Given the description of an element on the screen output the (x, y) to click on. 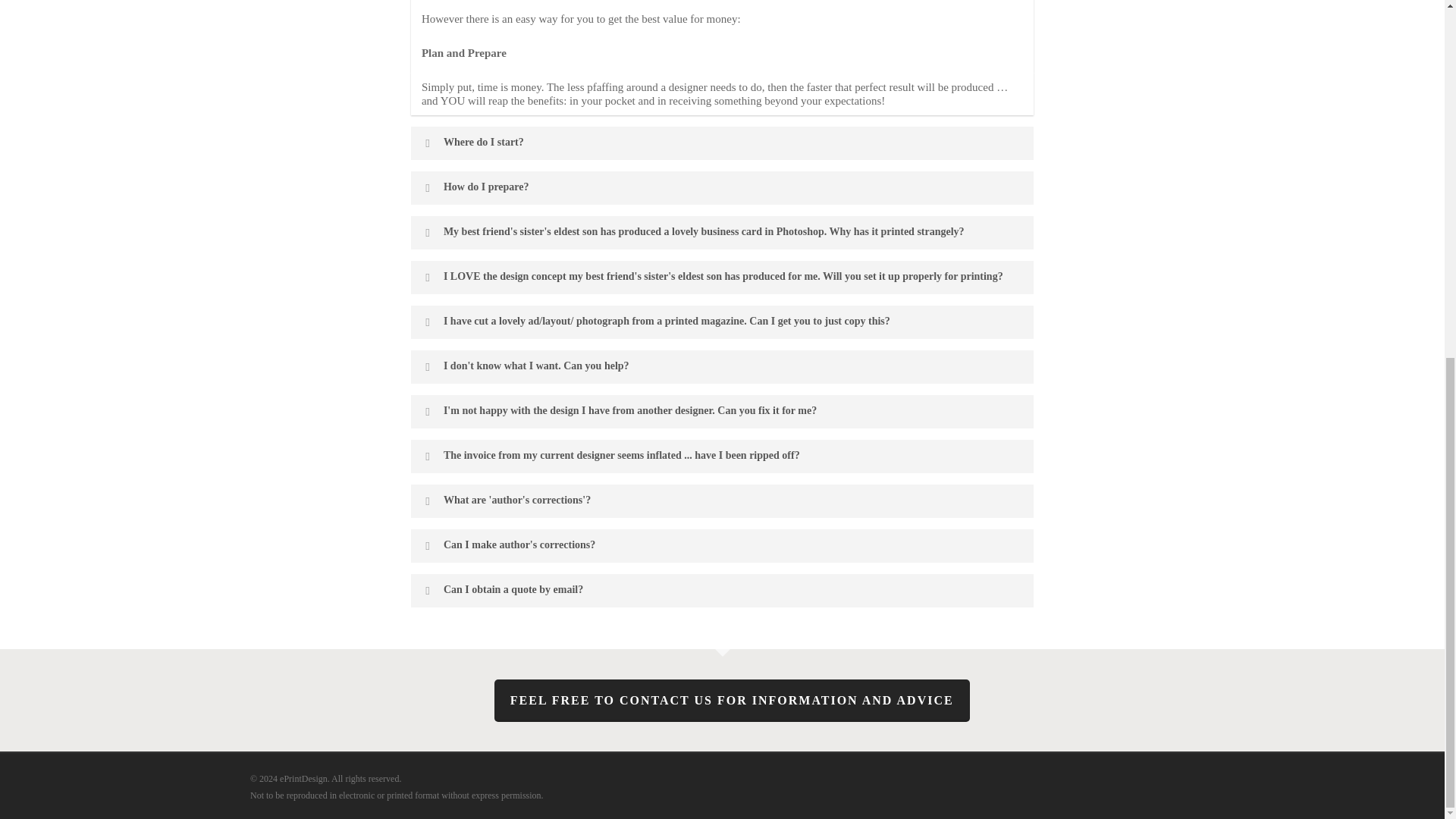
Can I make author's corrections? (721, 545)
What are 'author's corrections'? (721, 500)
FEEL FREE TO CONTACT US FOR INFORMATION AND ADVICE (732, 700)
How do I prepare? (721, 187)
Where do I start? (721, 142)
Can I obtain a quote by email? (721, 590)
I don't know what I want. Can you help? (721, 367)
